Given the description of an element on the screen output the (x, y) to click on. 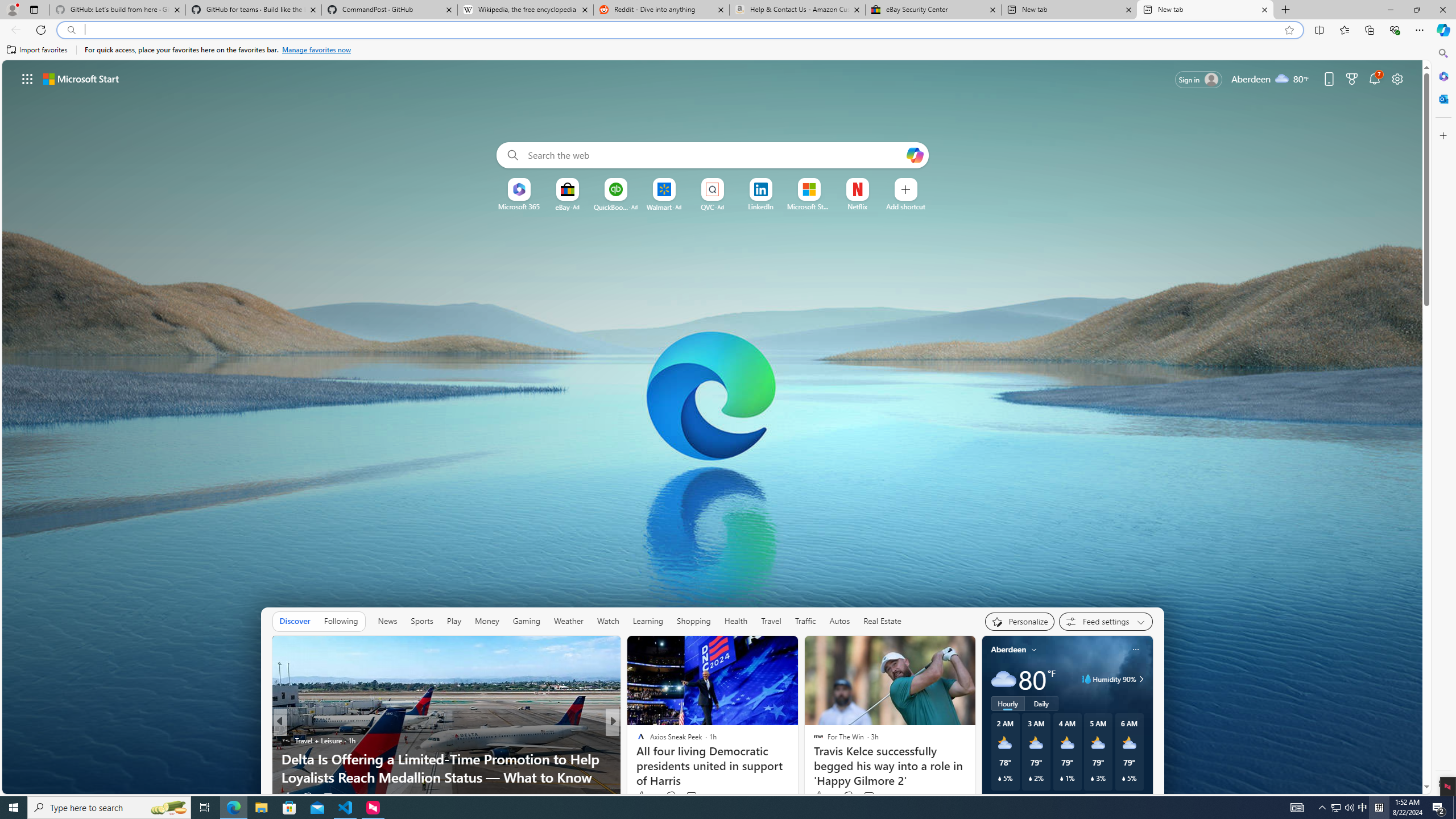
Shopping (693, 621)
Reader's Digest (635, 740)
IGN (635, 740)
Health (735, 621)
View comments 18 Comment (696, 795)
Aberdeen (1008, 649)
